Given the description of an element on the screen output the (x, y) to click on. 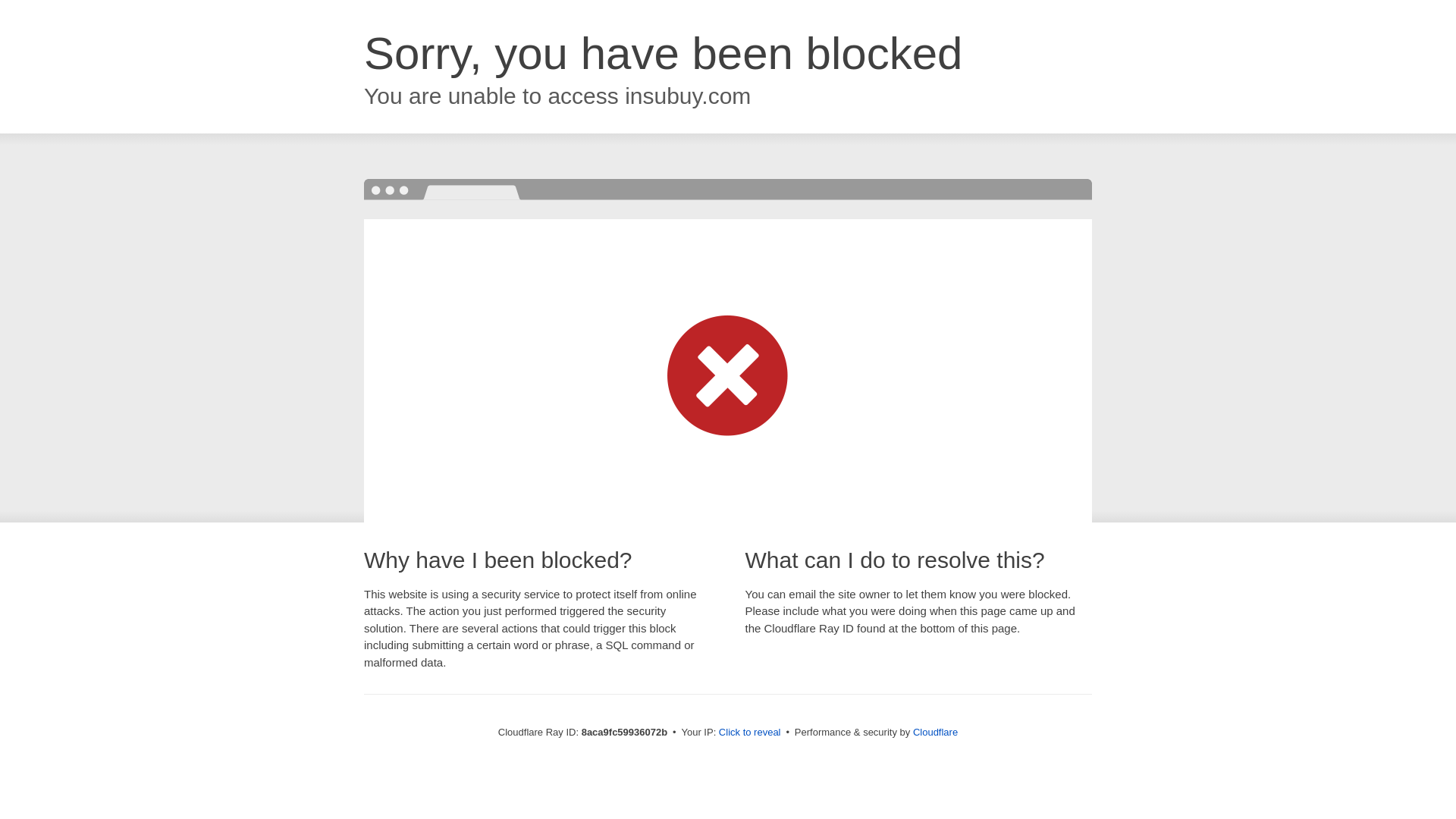
Click to reveal (749, 732)
Cloudflare (935, 731)
